Given the description of an element on the screen output the (x, y) to click on. 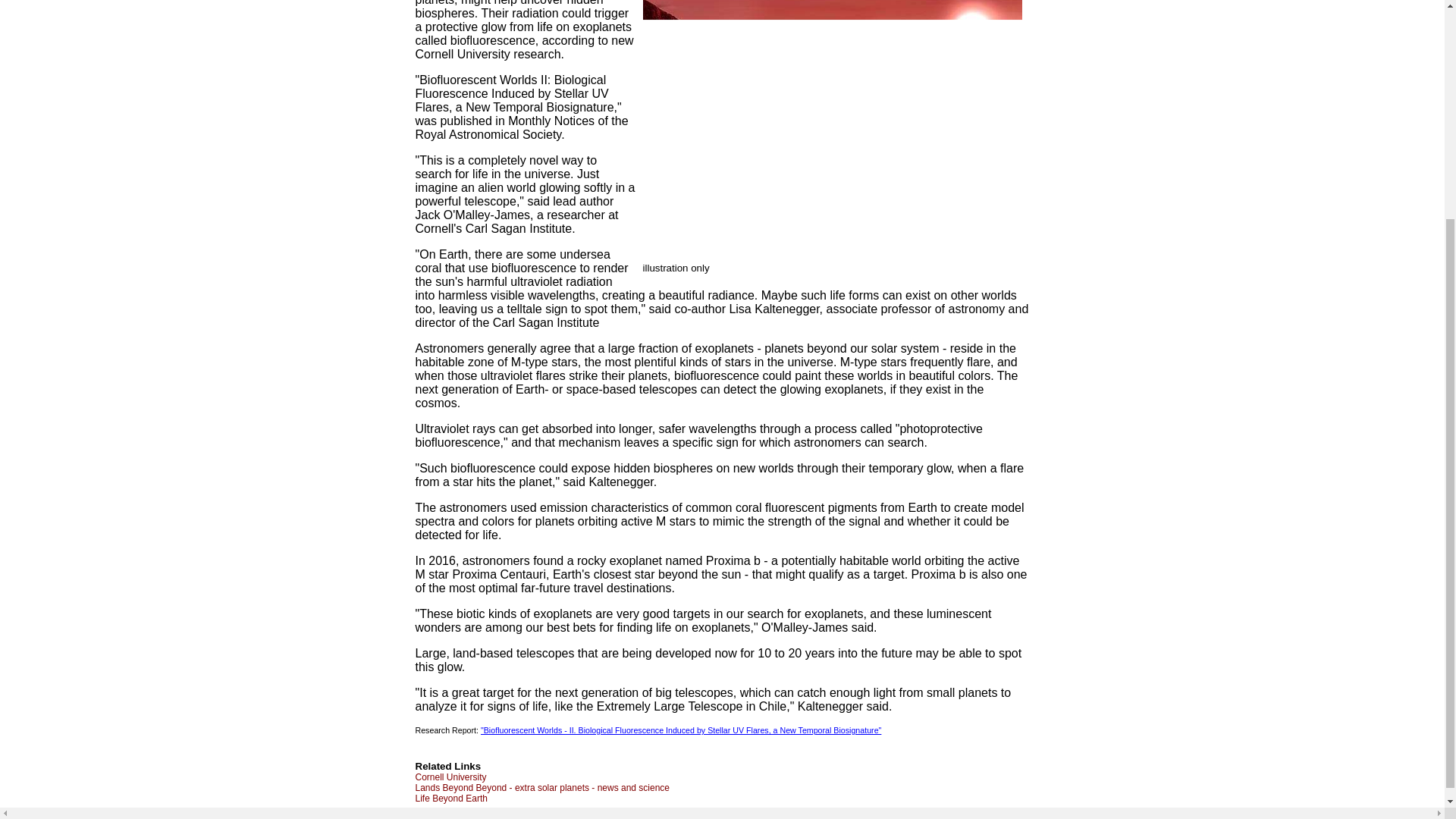
Life Beyond Earth (450, 798)
Cornell University (450, 777)
Lands Beyond Beyond - extra solar planets - news and science (541, 787)
